Given the description of an element on the screen output the (x, y) to click on. 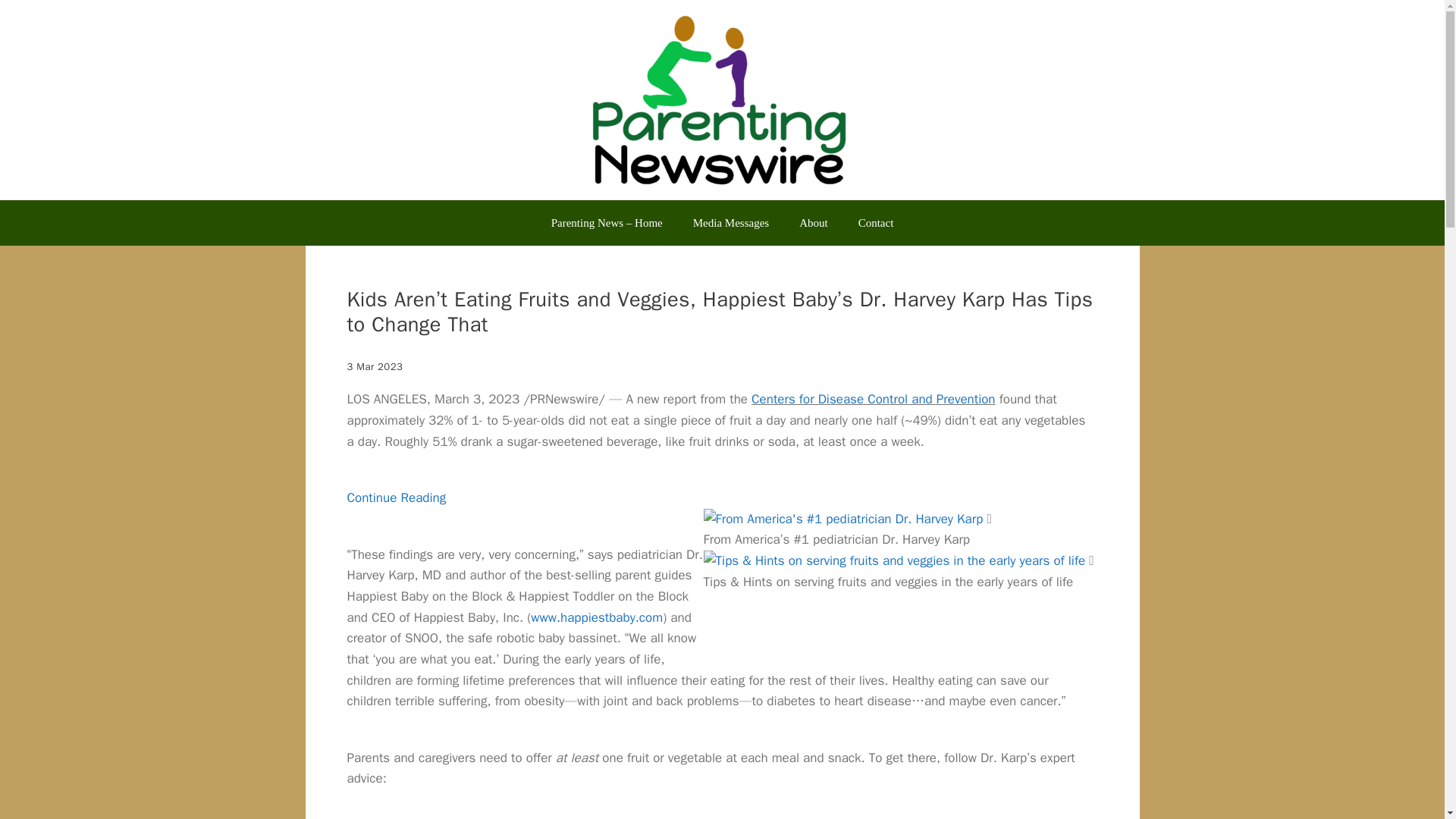
Media Messages (731, 222)
www.happiestbaby.com (596, 617)
Continue Reading (396, 497)
Centers for Disease Control and Prevention (872, 399)
Contact (875, 222)
About (813, 222)
Continue Reading (396, 497)
